Given the description of an element on the screen output the (x, y) to click on. 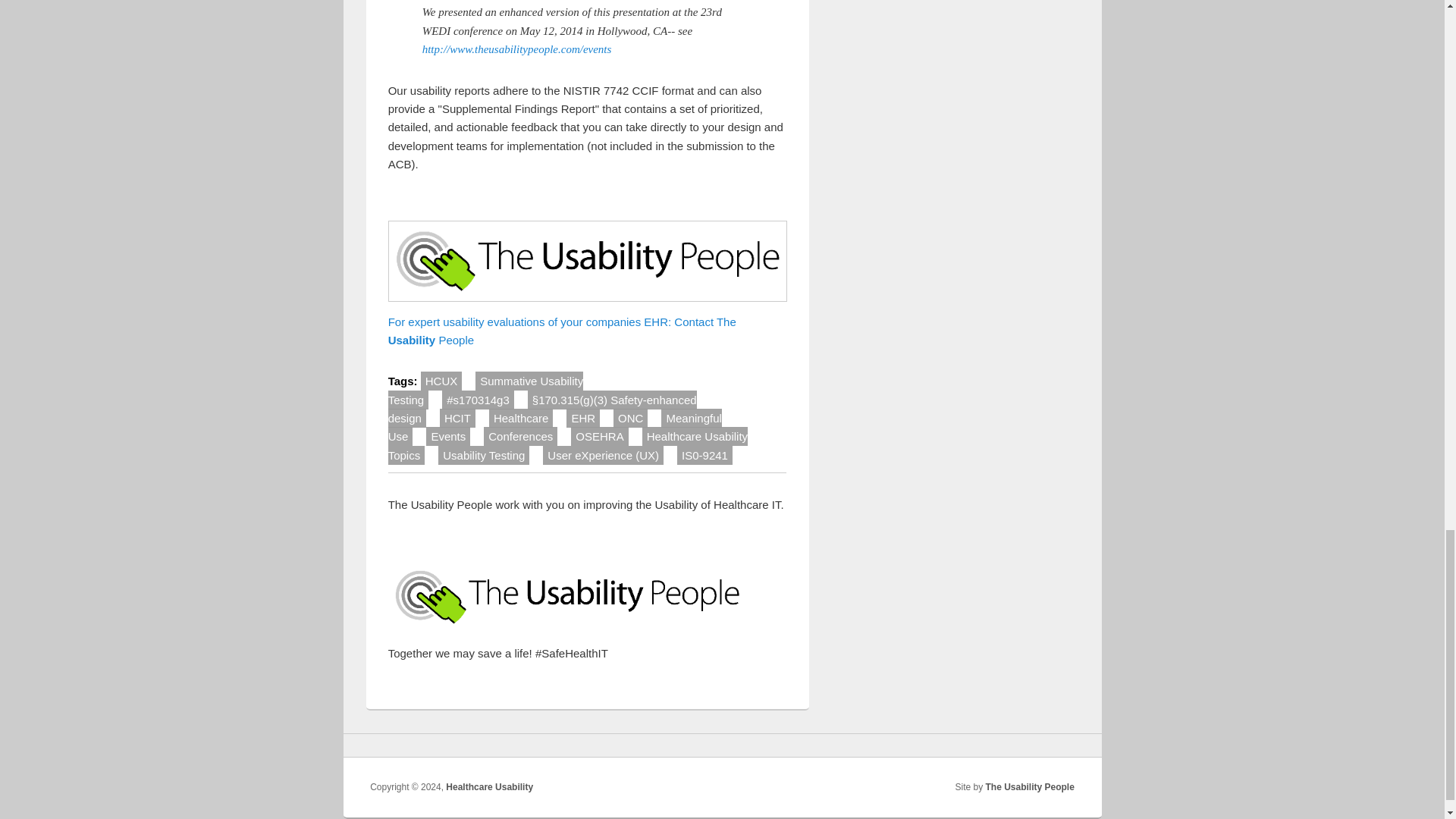
Events (448, 435)
Summative Usability Testing (485, 389)
ONC (629, 417)
HCUX (441, 380)
Healthcare Usability Topics (568, 445)
IS0-9241 (704, 455)
Usability Testing (483, 455)
Conferences (520, 435)
HCIT (457, 417)
